Given the description of an element on the screen output the (x, y) to click on. 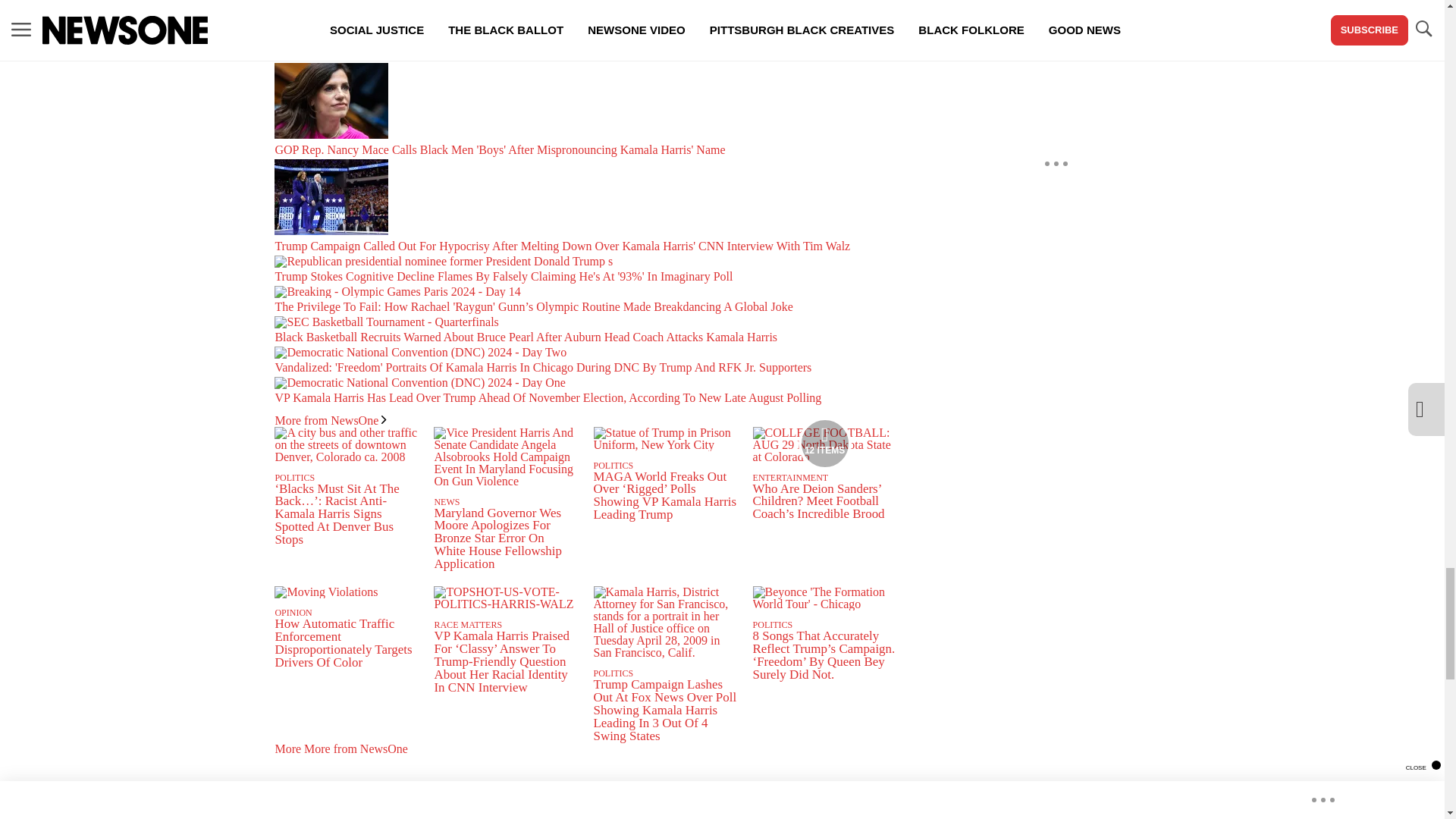
More from NewsOne (330, 420)
Media Playlist (824, 443)
Chef Jernard Wells and Feeding America Team Up To End Hunger (585, 31)
